Given the description of an element on the screen output the (x, y) to click on. 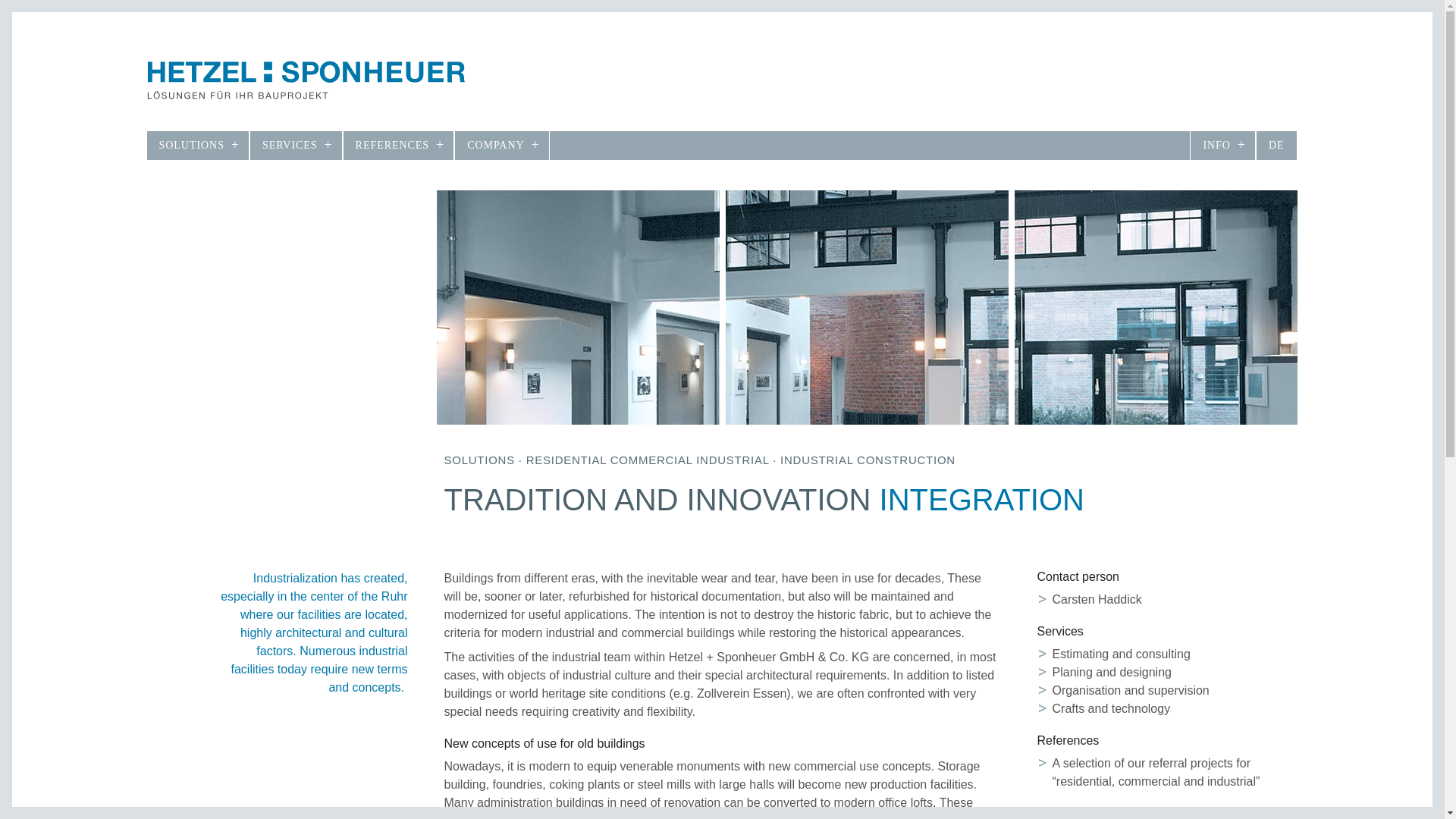
Carsten Haddick (1096, 599)
Crafts and technology (1111, 707)
REFERENCES (398, 145)
Planing and designing (1112, 671)
Estimating and consulting (1121, 653)
Organisation and supervision (1130, 689)
COMPANY (501, 145)
DE (1276, 145)
SOLUTIONS (197, 145)
SERVICES (296, 145)
